Given the description of an element on the screen output the (x, y) to click on. 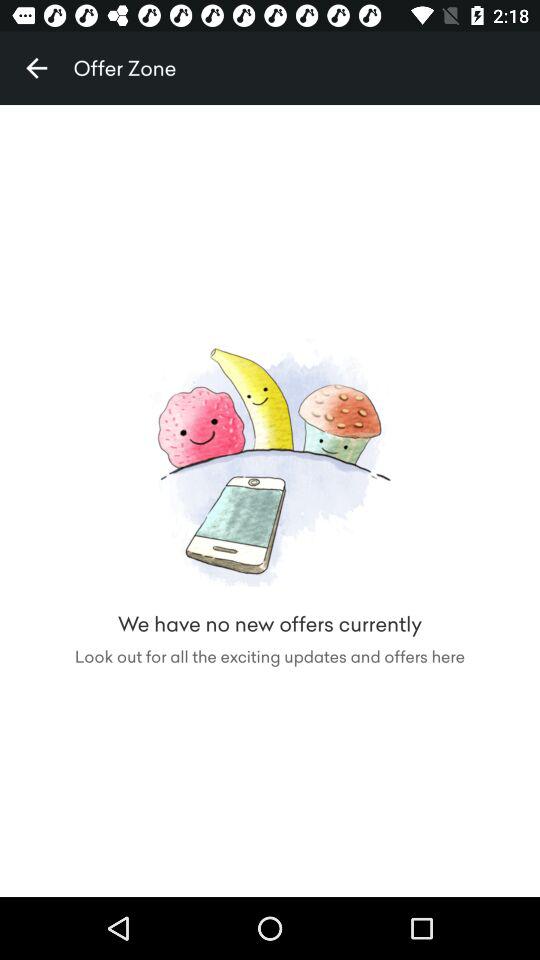
turn off the icon at the top left corner (36, 67)
